Given the description of an element on the screen output the (x, y) to click on. 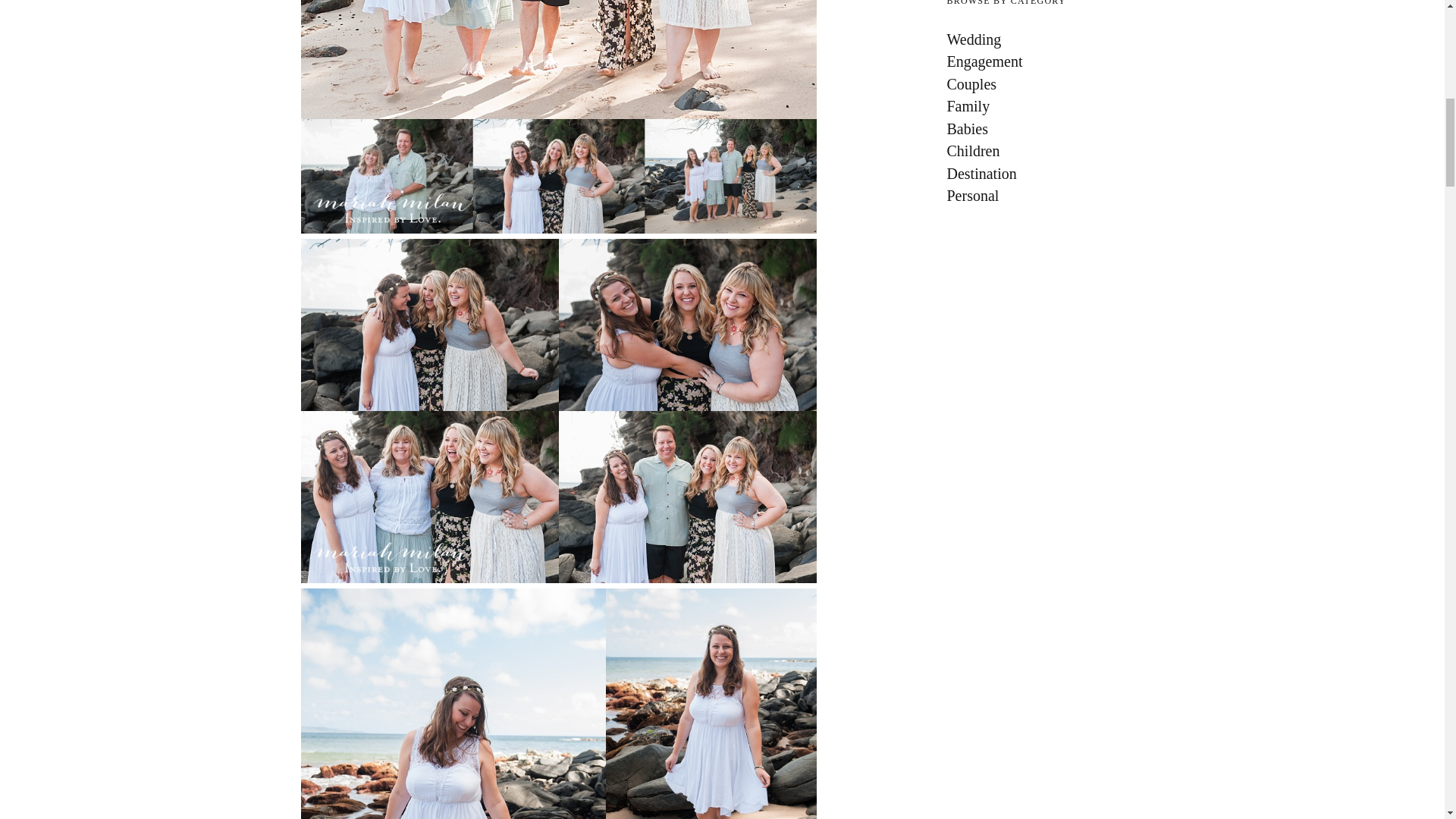
Couples (1044, 84)
Engagement (1044, 61)
Wedding (1044, 39)
Babies (1044, 128)
Destination (1044, 173)
Personal (1044, 195)
Family (1044, 106)
